Given the description of an element on the screen output the (x, y) to click on. 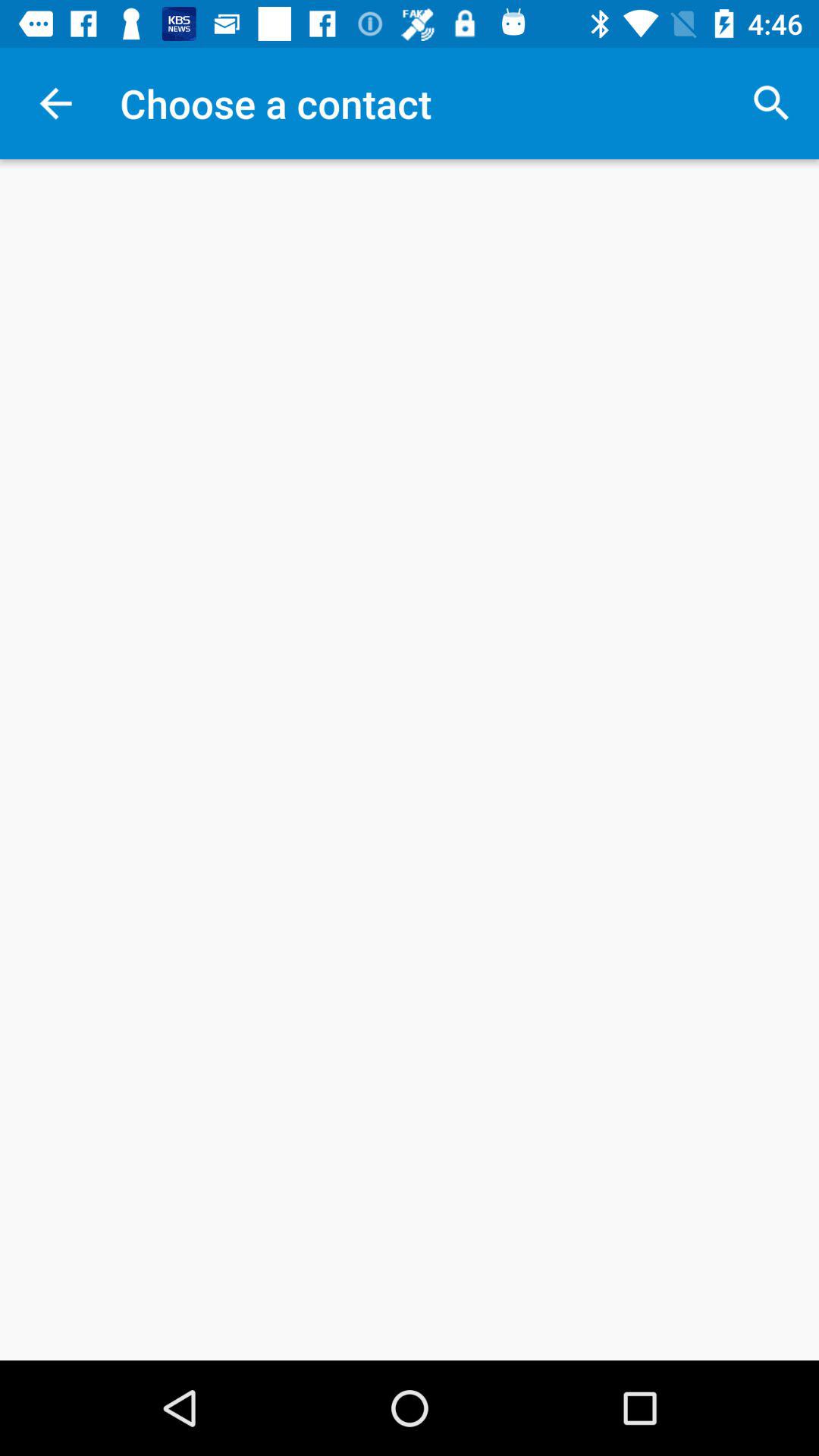
select the icon to the right of the choose a contact item (771, 103)
